Given the description of an element on the screen output the (x, y) to click on. 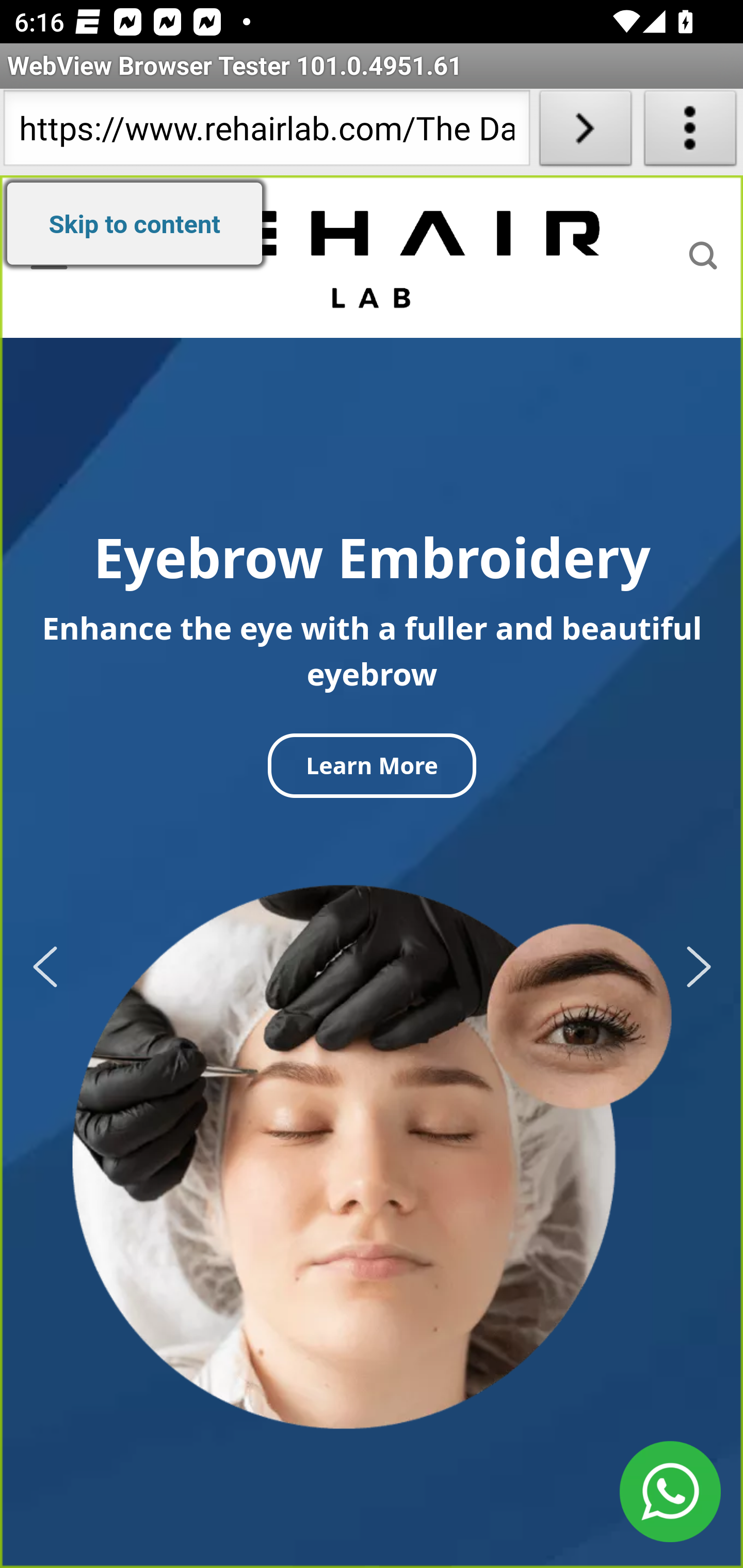
https://www.rehairlab.com/The Daily (266, 132)
Load URL (585, 132)
About WebView (690, 132)
Skip to content (135, 222)
Search  (703, 256)
Learn More (372, 764)
previous arrow (50, 967)
next arrow (692, 967)
